Given the description of an element on the screen output the (x, y) to click on. 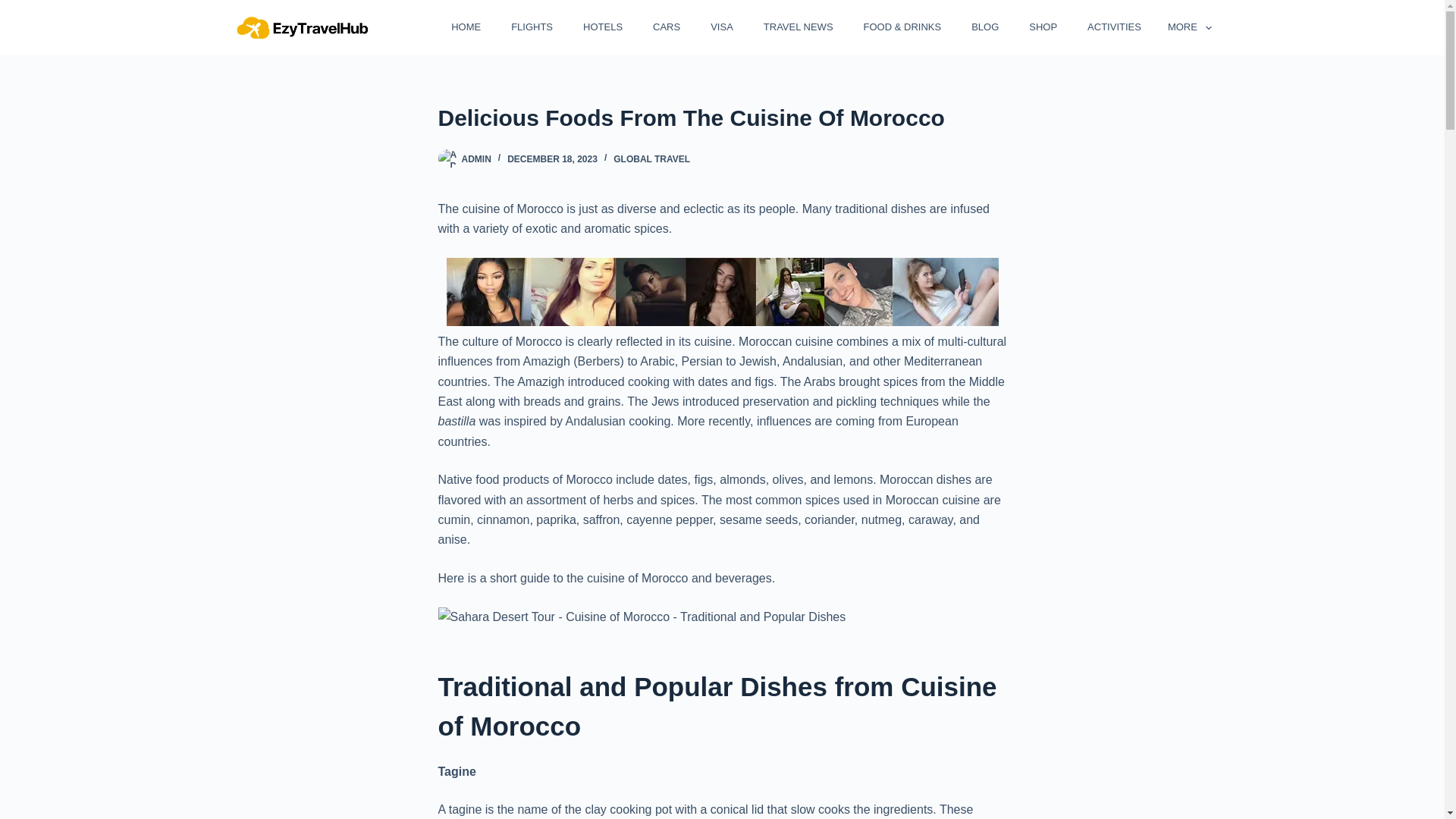
CARS (665, 27)
Posts by admin (475, 158)
SHOP (1040, 27)
TRAVEL NEWS (795, 27)
HOTELS (601, 27)
Cuisine of Morocco 3 (641, 617)
HOME (464, 27)
Delicious Foods From The Cuisine Of Morocco (722, 117)
ACTIVITIES (1112, 27)
BLOG (983, 27)
Skip to content (15, 7)
MORE (1182, 27)
FLIGHTS (530, 27)
VISA (720, 27)
